Given the description of an element on the screen output the (x, y) to click on. 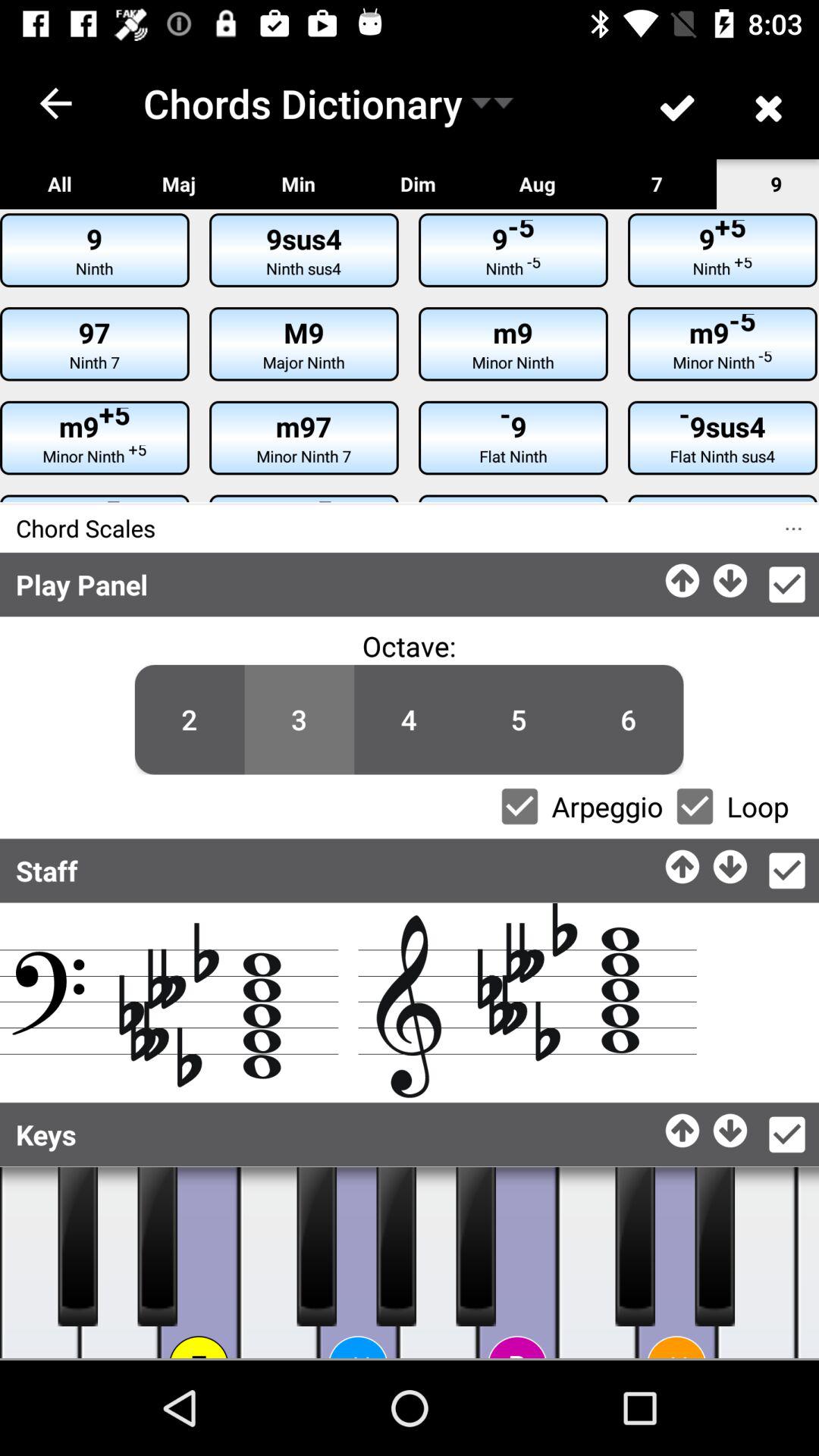
play the piano (475, 1246)
